Given the description of an element on the screen output the (x, y) to click on. 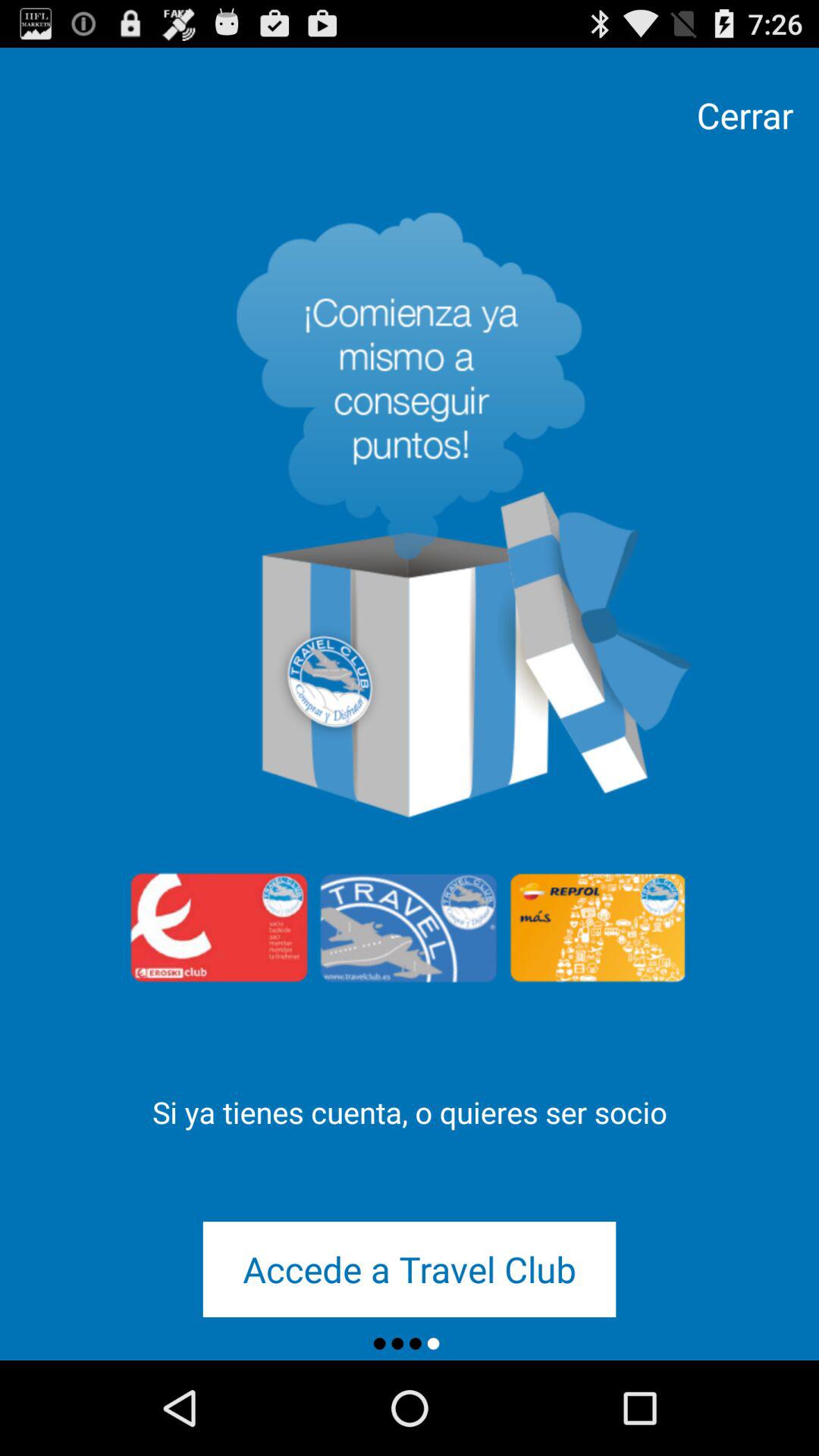
swipe until the accede a travel icon (409, 1269)
